Given the description of an element on the screen output the (x, y) to click on. 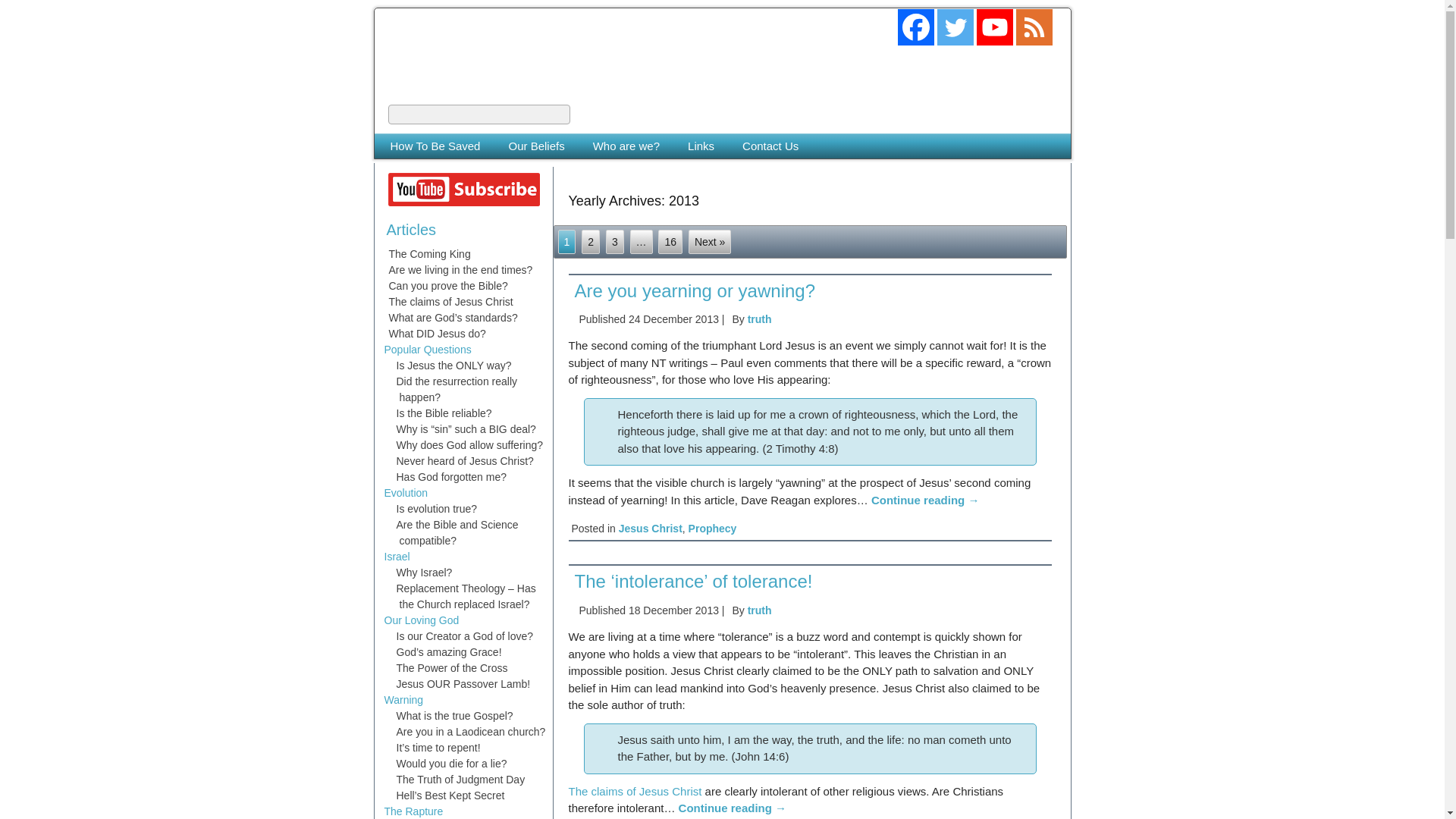
Contact Us (769, 146)
Who are we? (625, 146)
Links (700, 146)
Our Beliefs (535, 146)
The Coming King (501, 36)
Contact Us (769, 146)
RSS feed (1034, 27)
Who are we? (625, 146)
Twitter (955, 27)
Facebook (916, 27)
